Given the description of an element on the screen output the (x, y) to click on. 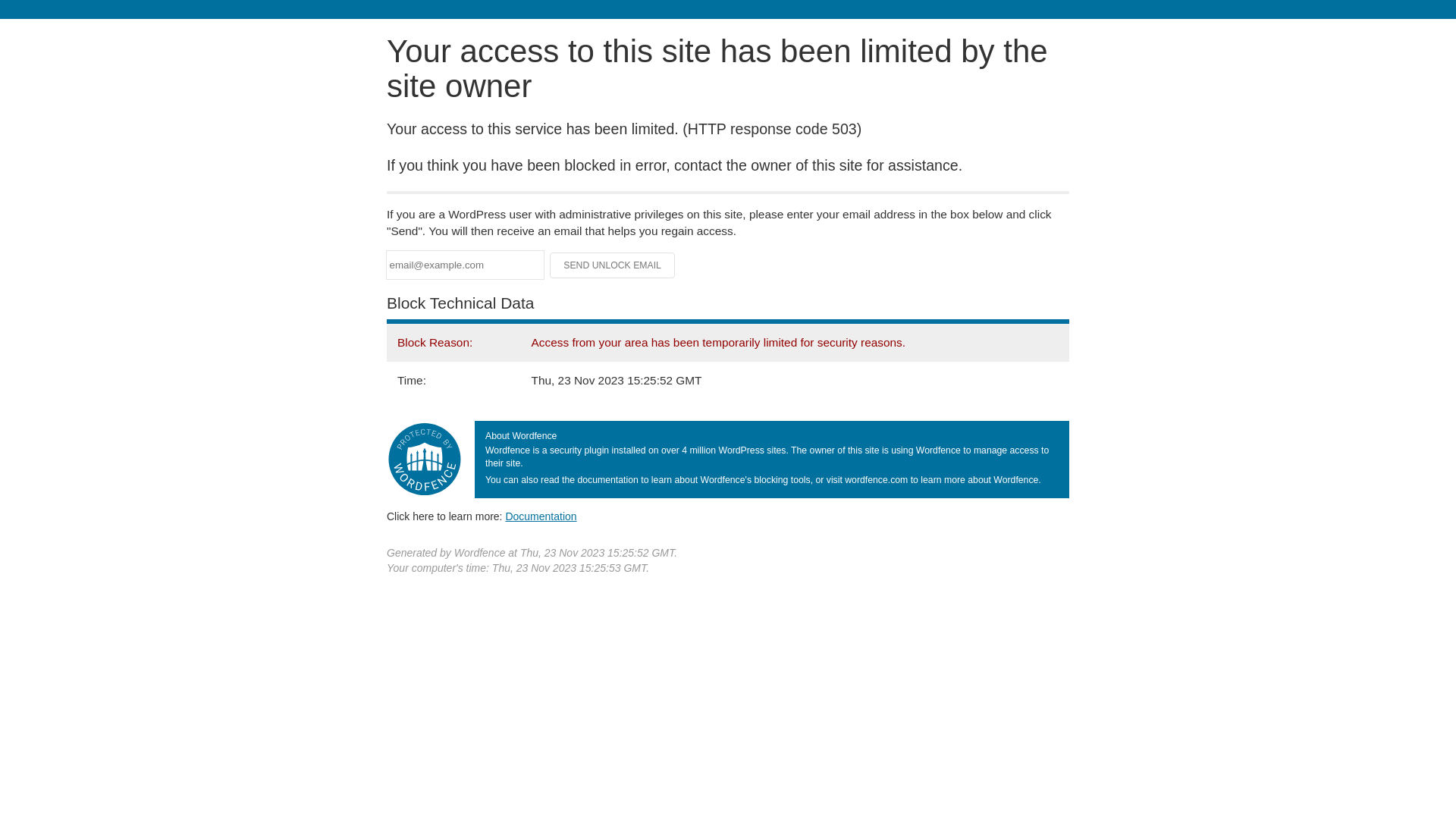
Documentation Element type: text (540, 516)
Send Unlock Email Element type: text (612, 265)
